Given the description of an element on the screen output the (x, y) to click on. 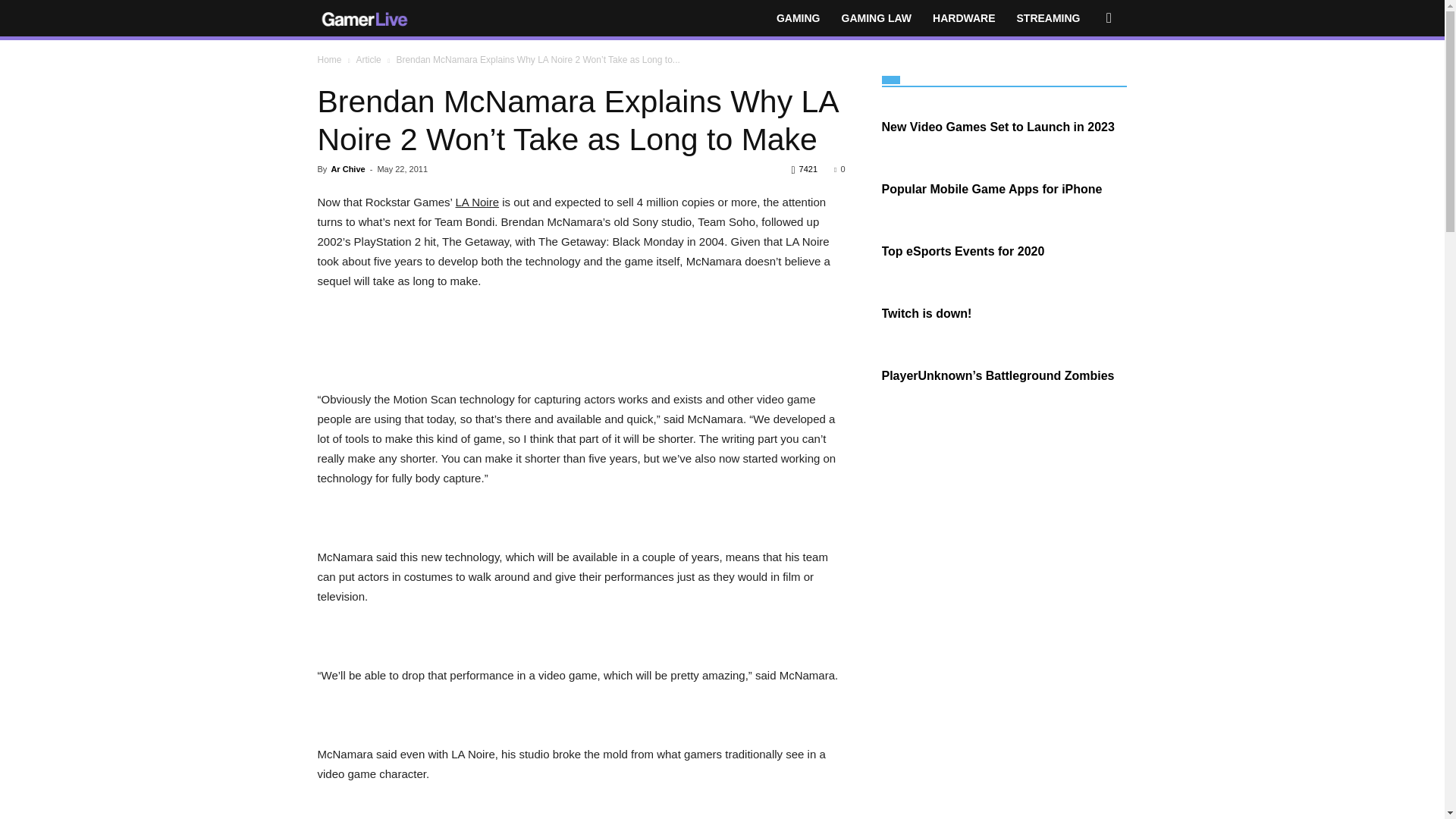
HARDWARE (963, 18)
Permanent link to Popular Mobile Game Apps for iPhone (991, 188)
Article (367, 59)
Search (1085, 78)
Permanent link to New Video Games Set to Launch in 2023 (996, 126)
GAMING LAW (877, 18)
0 (839, 168)
STREAMING (1048, 18)
Ar Chive (347, 168)
GAMING (798, 18)
